Given the description of an element on the screen output the (x, y) to click on. 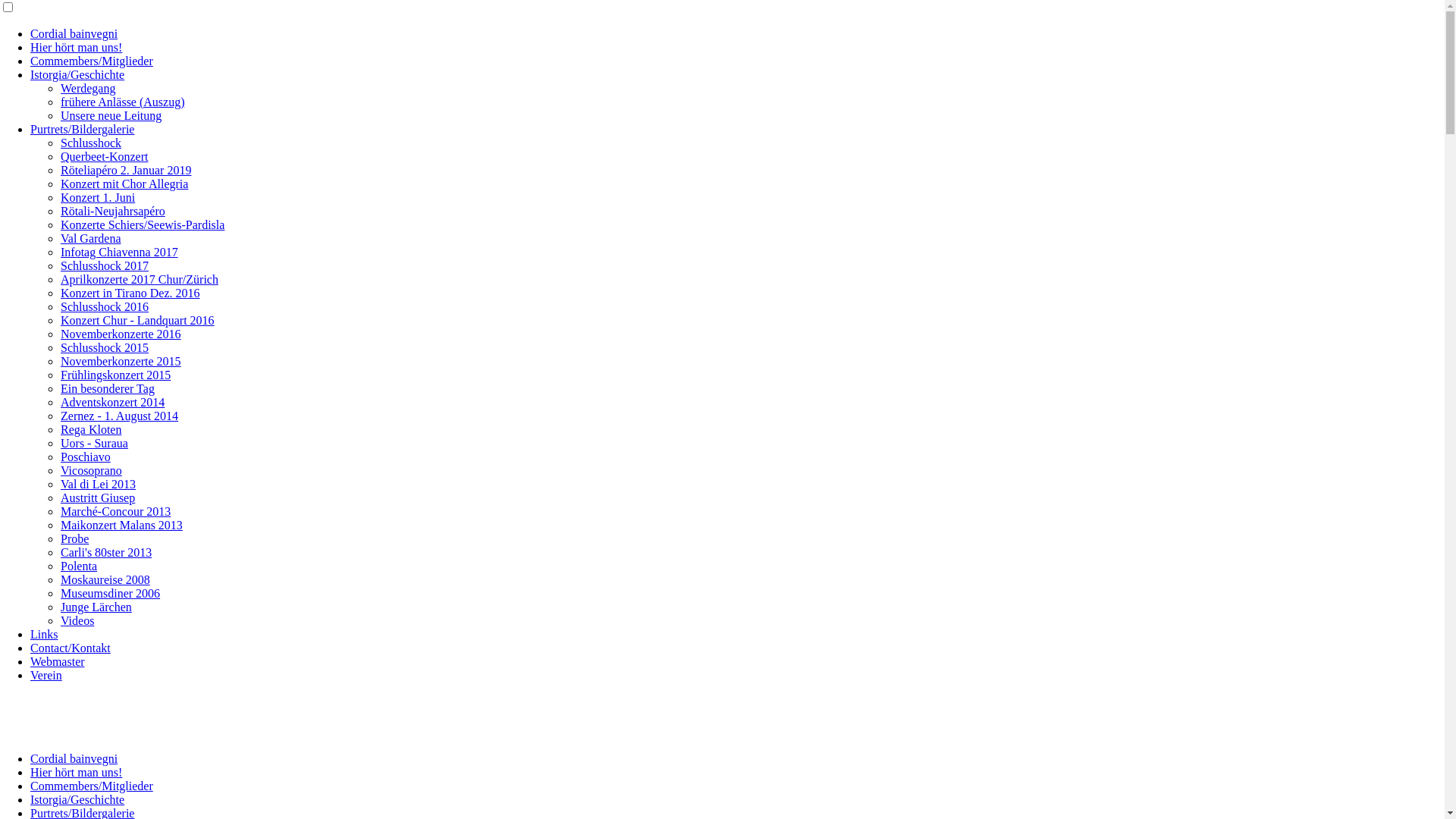
Moskaureise 2008 Element type: text (105, 579)
Novemberkonzerte 2015 Element type: text (120, 360)
Konzert in Tirano Dez. 2016 Element type: text (130, 292)
Contact/Kontakt Element type: text (70, 647)
Rega Kloten Element type: text (90, 429)
Schlusshock 2015 Element type: text (104, 347)
Val di Lei 2013 Element type: text (97, 483)
Polenta Element type: text (78, 565)
Ein besonderer Tag Element type: text (107, 388)
Zernez - 1. August 2014 Element type: text (119, 415)
Schlusshock 2016 Element type: text (104, 306)
Adventskonzert 2014 Element type: text (112, 401)
Istorgia/Geschichte Element type: text (77, 74)
Purtrets/Bildergalerie Element type: text (82, 128)
Uors - Suraua Element type: text (94, 442)
Webmaster Element type: text (57, 661)
Verein Element type: text (46, 674)
Cordial bainvegni Element type: text (73, 33)
Austritt Giusep Element type: text (97, 497)
Poschiavo Element type: text (85, 456)
Querbeet-Konzert Element type: text (104, 156)
Commembers/Mitglieder Element type: text (91, 785)
Probe Element type: text (74, 538)
Links Element type: text (43, 633)
Val Gardena Element type: text (90, 238)
Videos Element type: text (77, 620)
Konzerte Schiers/Seewis-Pardisla Element type: text (142, 224)
Konzert 1. Juni Element type: text (97, 197)
Commembers/Mitglieder Element type: text (91, 60)
Infotag Chiavenna 2017 Element type: text (119, 251)
Konzert mit Chor Allegria Element type: text (124, 183)
Konzert Chur - Landquart 2016 Element type: text (137, 319)
Cordial bainvegni Element type: text (73, 758)
Novemberkonzerte 2016 Element type: text (120, 333)
Schlusshock 2017 Element type: text (104, 265)
Vicosoprano Element type: text (91, 470)
Museumsdiner 2006 Element type: text (110, 592)
Werdegang Element type: text (87, 87)
Unsere neue Leitung Element type: text (110, 115)
Istorgia/Geschichte Element type: text (77, 799)
Schlusshock Element type: text (90, 142)
Maikonzert Malans 2013 Element type: text (121, 524)
Carli's 80ster 2013 Element type: text (105, 552)
